Given the description of an element on the screen output the (x, y) to click on. 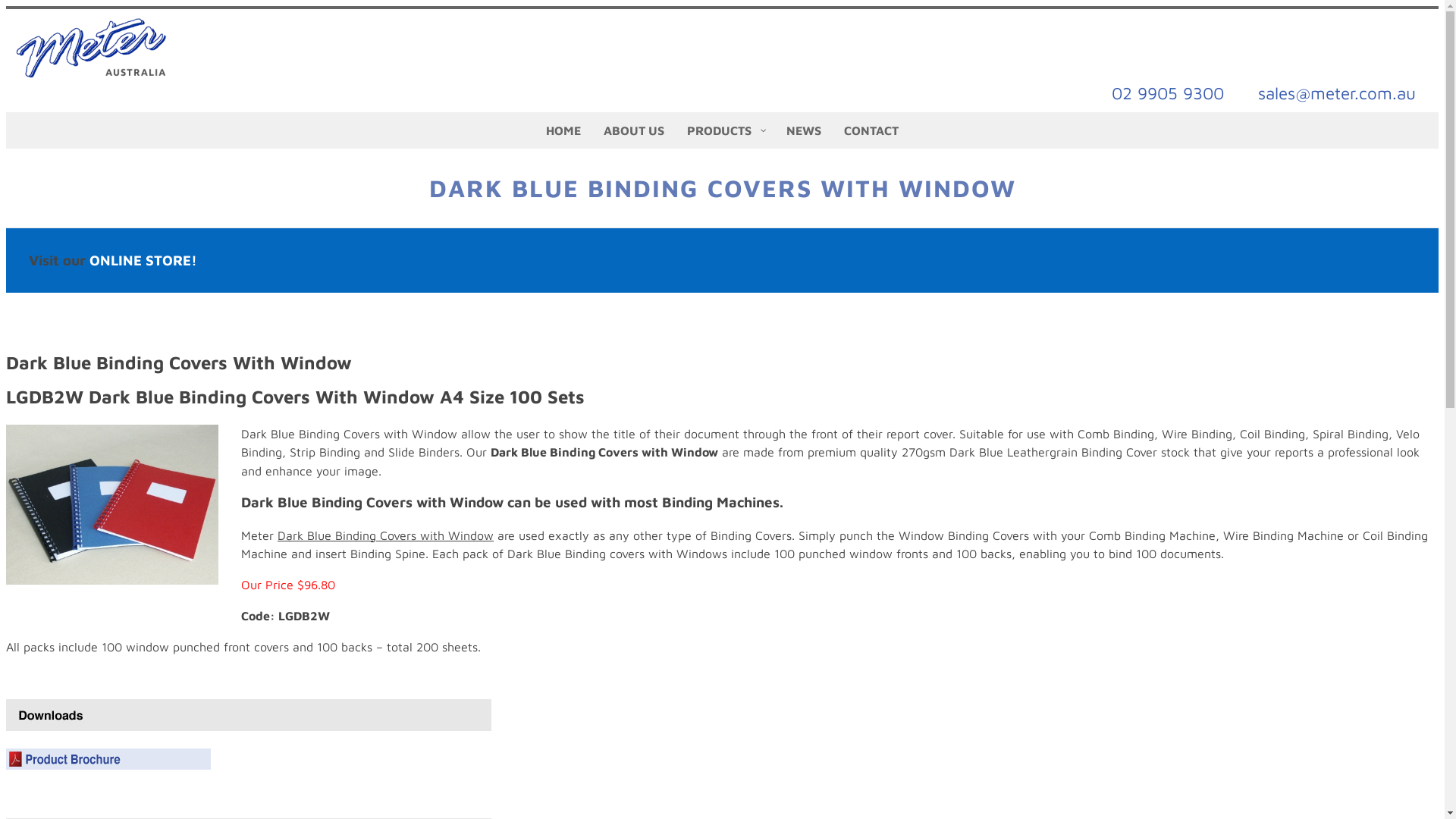
sales@meter.com.au Element type: text (1336, 93)
Downloads7 Element type: hover (248, 715)
02 9905 9300 Element type: text (1167, 93)
ONLINE STORE! Element type: text (143, 259)
NEWS Element type: text (803, 130)
HOME Element type: text (563, 130)
CONTACT Element type: text (871, 130)
PRODUCTS Element type: text (725, 130)
downloadbrochure4 Element type: hover (108, 758)
ABOUT US Element type: text (633, 130)
LG Windows Element type: hover (112, 504)
